Given the description of an element on the screen output the (x, y) to click on. 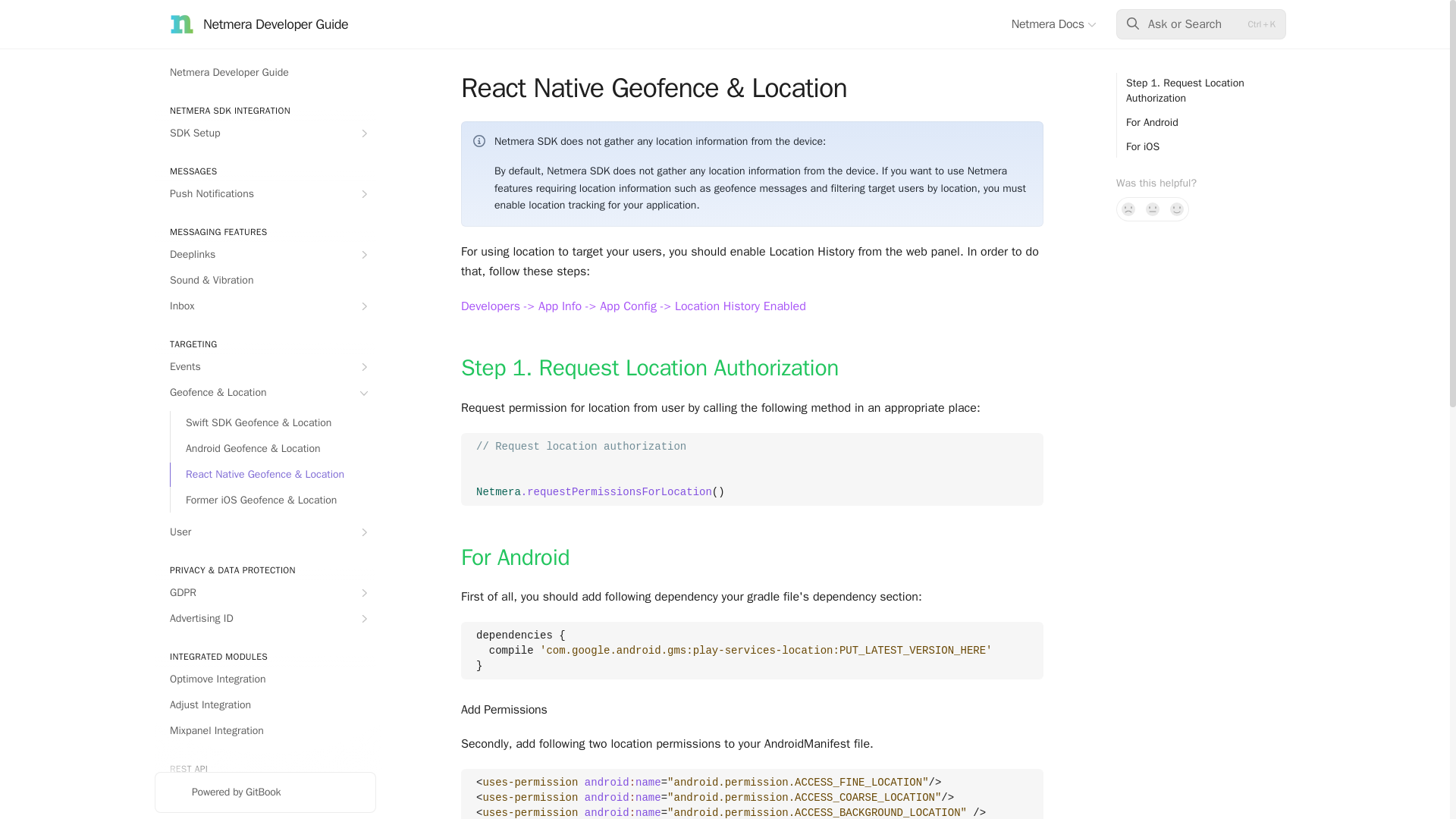
Push Notifications (264, 193)
Yes, it was! (1176, 209)
Netmera Developer Guide (264, 72)
Not sure (1152, 209)
Netmera Developer Guide (258, 24)
Netmera Docs (1053, 24)
SDK Setup (264, 133)
No (1128, 209)
